Given the description of an element on the screen output the (x, y) to click on. 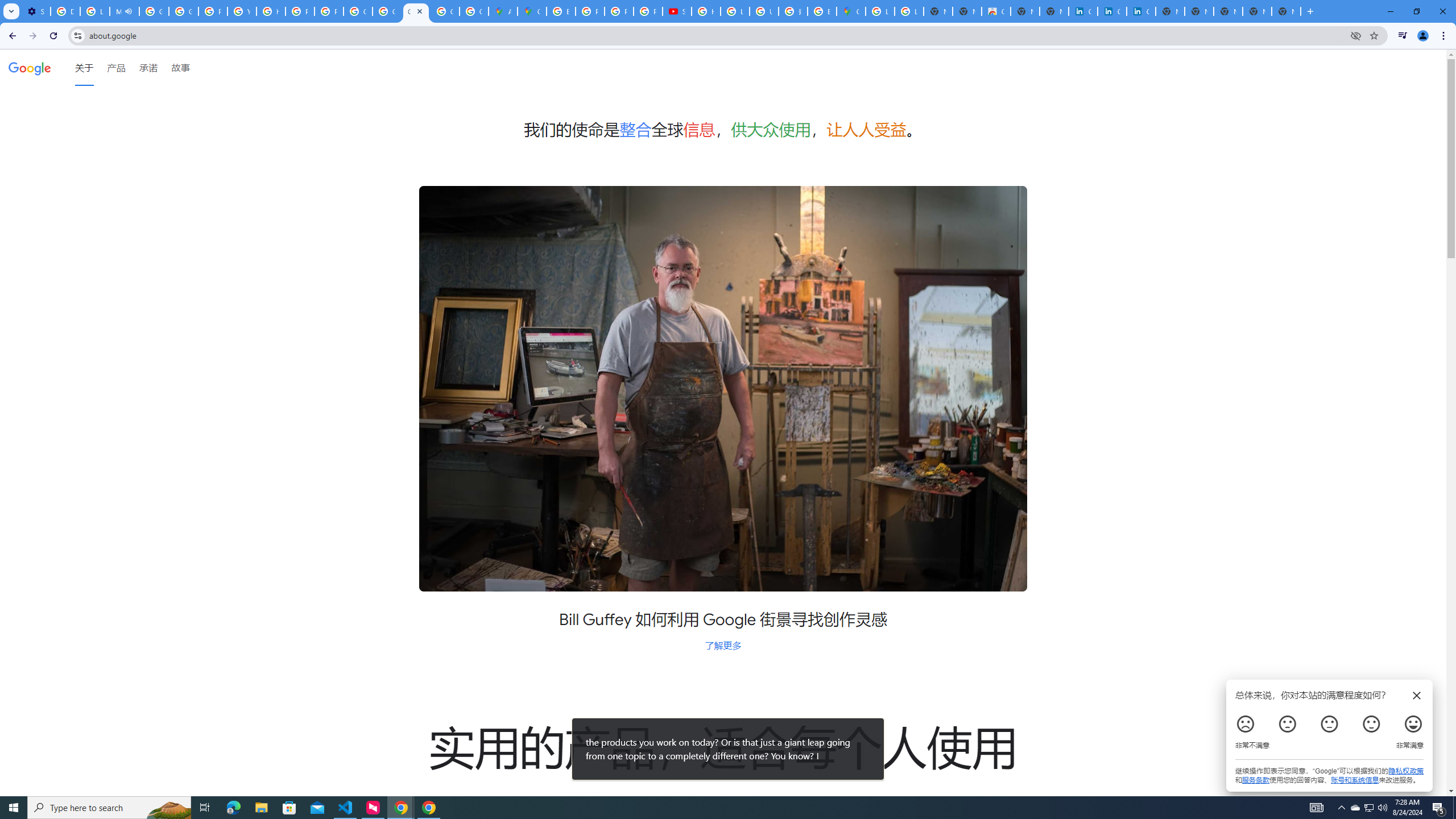
Google Maps (850, 11)
Subscriptions - YouTube (677, 11)
https://scholar.google.com/ (271, 11)
Create your Google Account (473, 11)
Google Maps (531, 11)
Learn how to find your photos - Google Photos Help (95, 11)
